Given the description of an element on the screen output the (x, y) to click on. 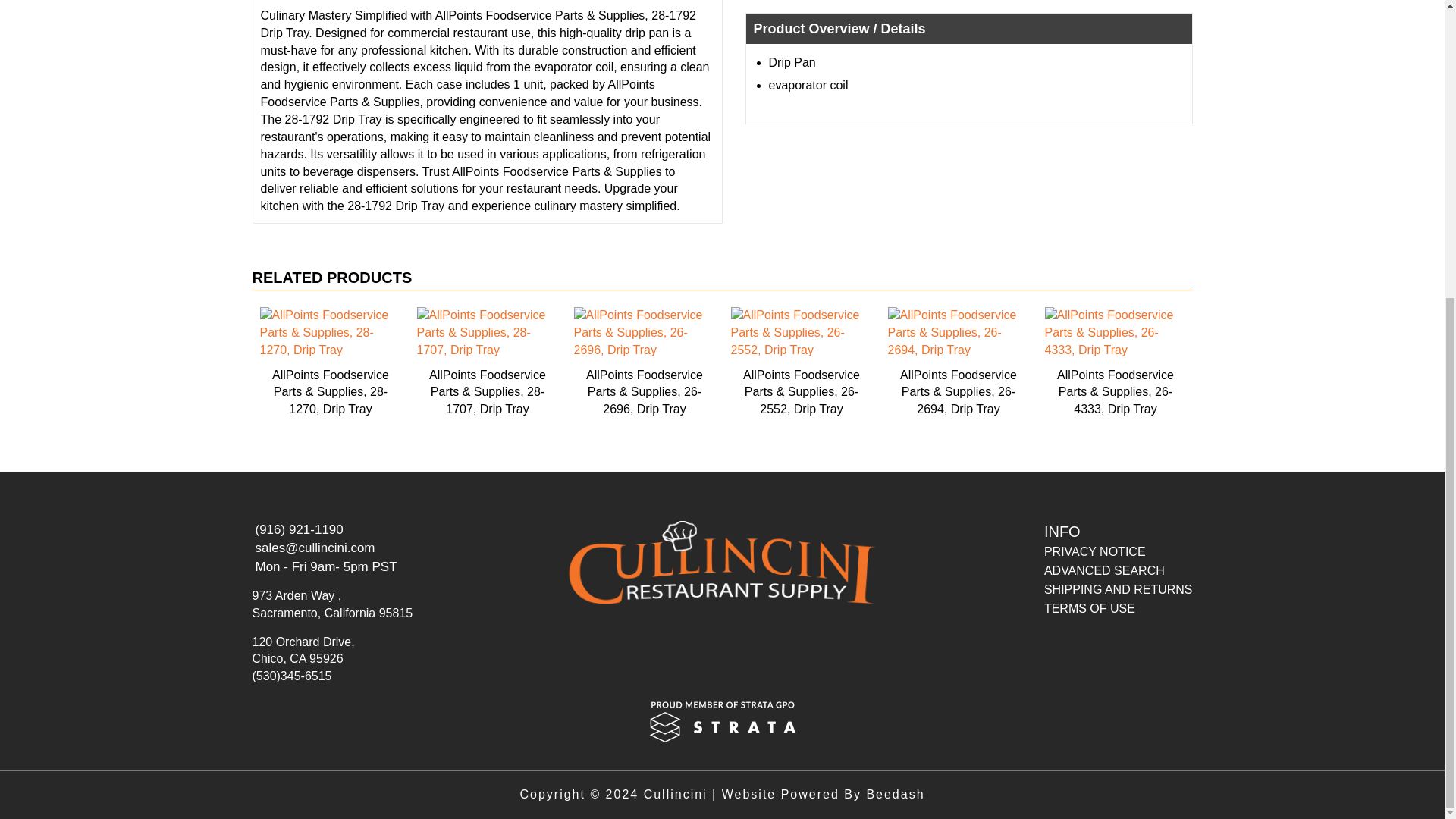
Proud Member of Strata GPO (721, 720)
